Given the description of an element on the screen output the (x, y) to click on. 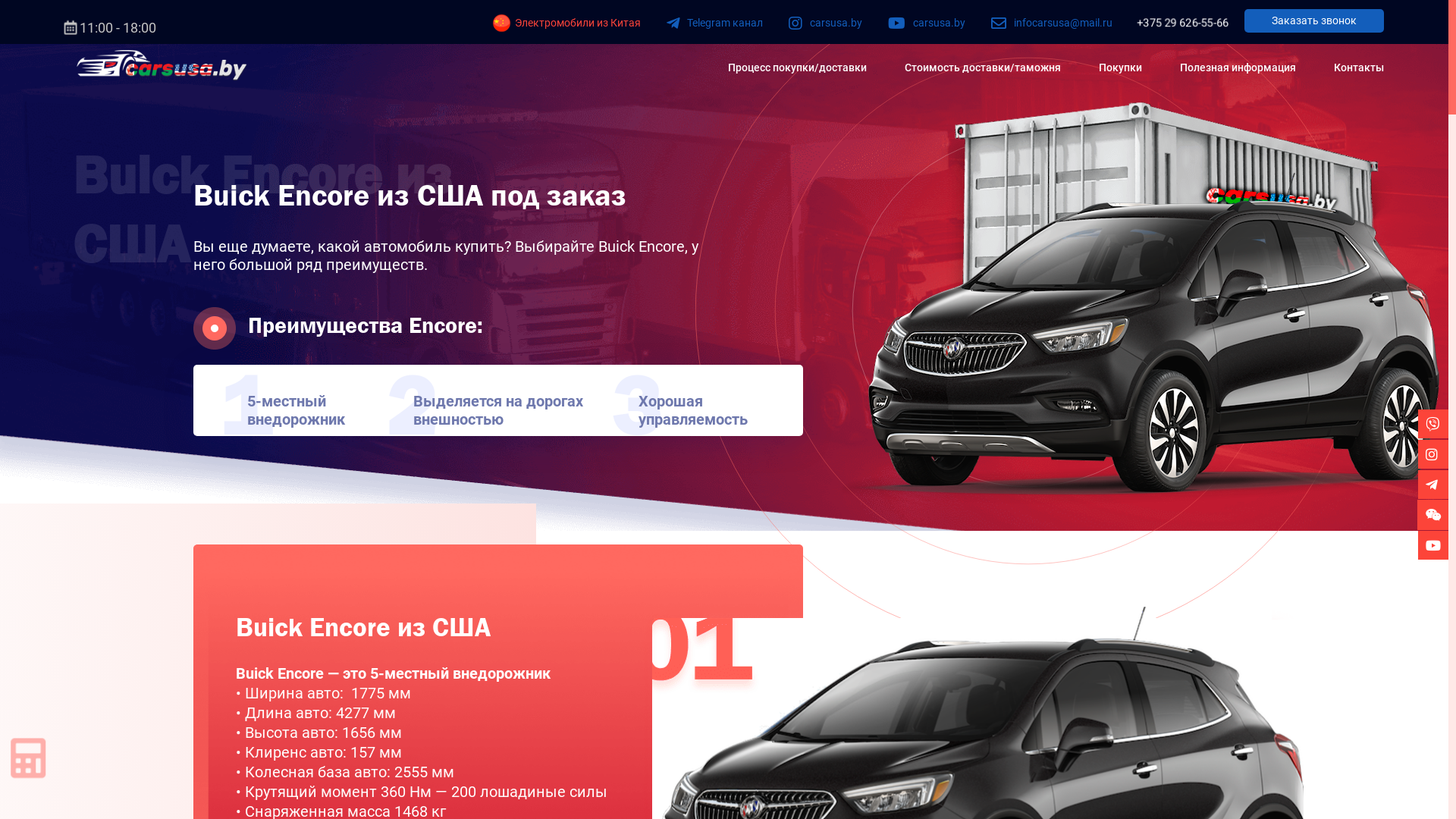
infocarsusa@mail.ru Element type: text (1051, 23)
carsusa.by Element type: text (926, 23)
11:00 - 18:00 Element type: text (110, 27)
+375 29 626-55-66 Element type: text (1181, 23)
carsusa.by Element type: text (825, 23)
